Given the description of an element on the screen output the (x, y) to click on. 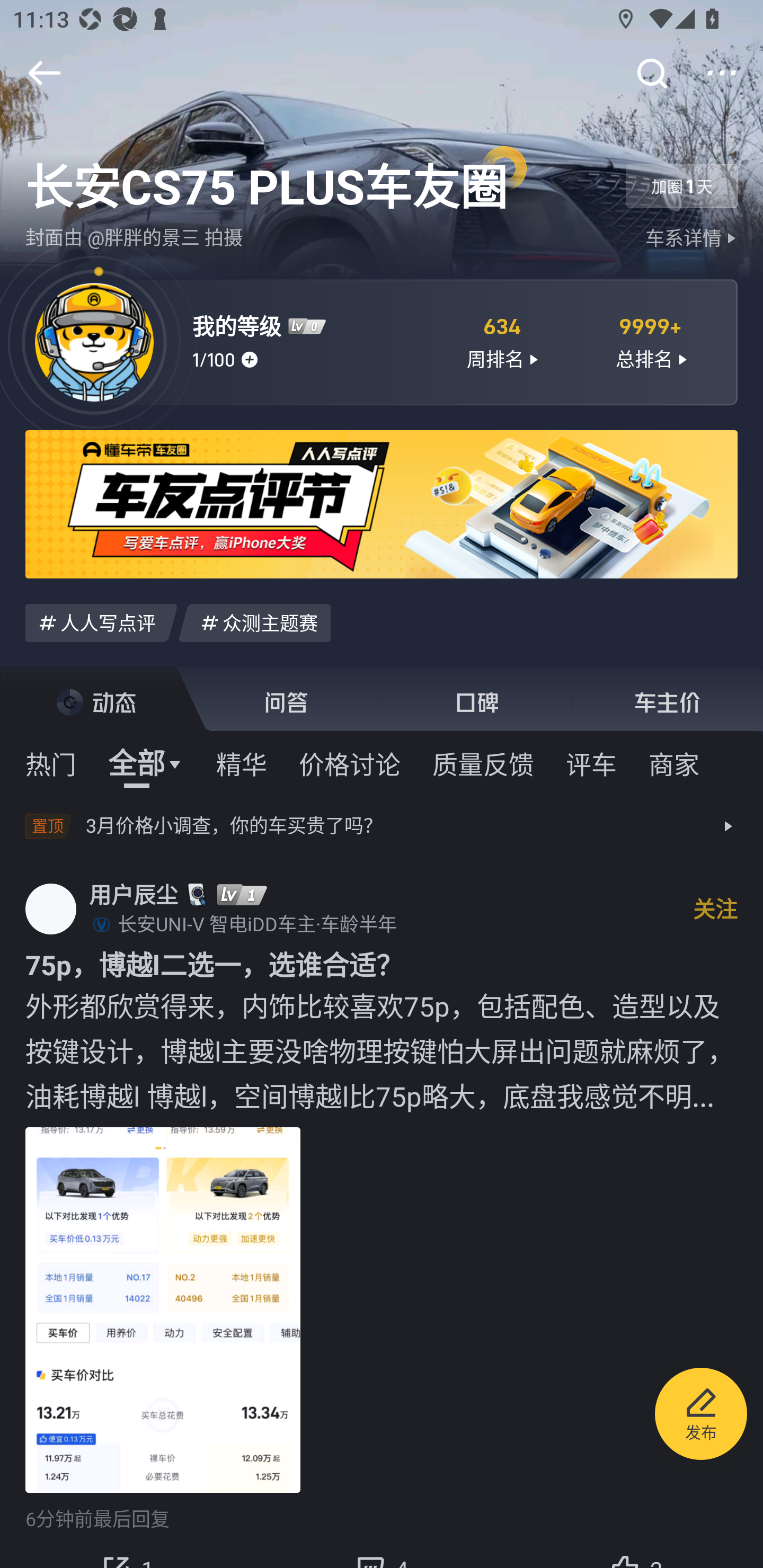
 (44, 72)
 (651, 72)
 (721, 72)
车系详情 (692, 238)
我的等级 1/100  (307, 341)
634 周排名 (501, 341)
9999+ 总排名 (650, 341)
 人人写点评 (101, 622)
 众测主题赛 (253, 622)
热门 (50, 762)
全部  (146, 762)
精华 (241, 762)
价格讨论 (349, 762)
质量反馈 (483, 762)
评车 (591, 762)
商家 (673, 762)
置顶 3月价格小调查，你的车买贵了吗？  (381, 825)
用户辰尘 (133, 894)
关注 (714, 909)
 发布 (701, 1416)
